Given the description of an element on the screen output the (x, y) to click on. 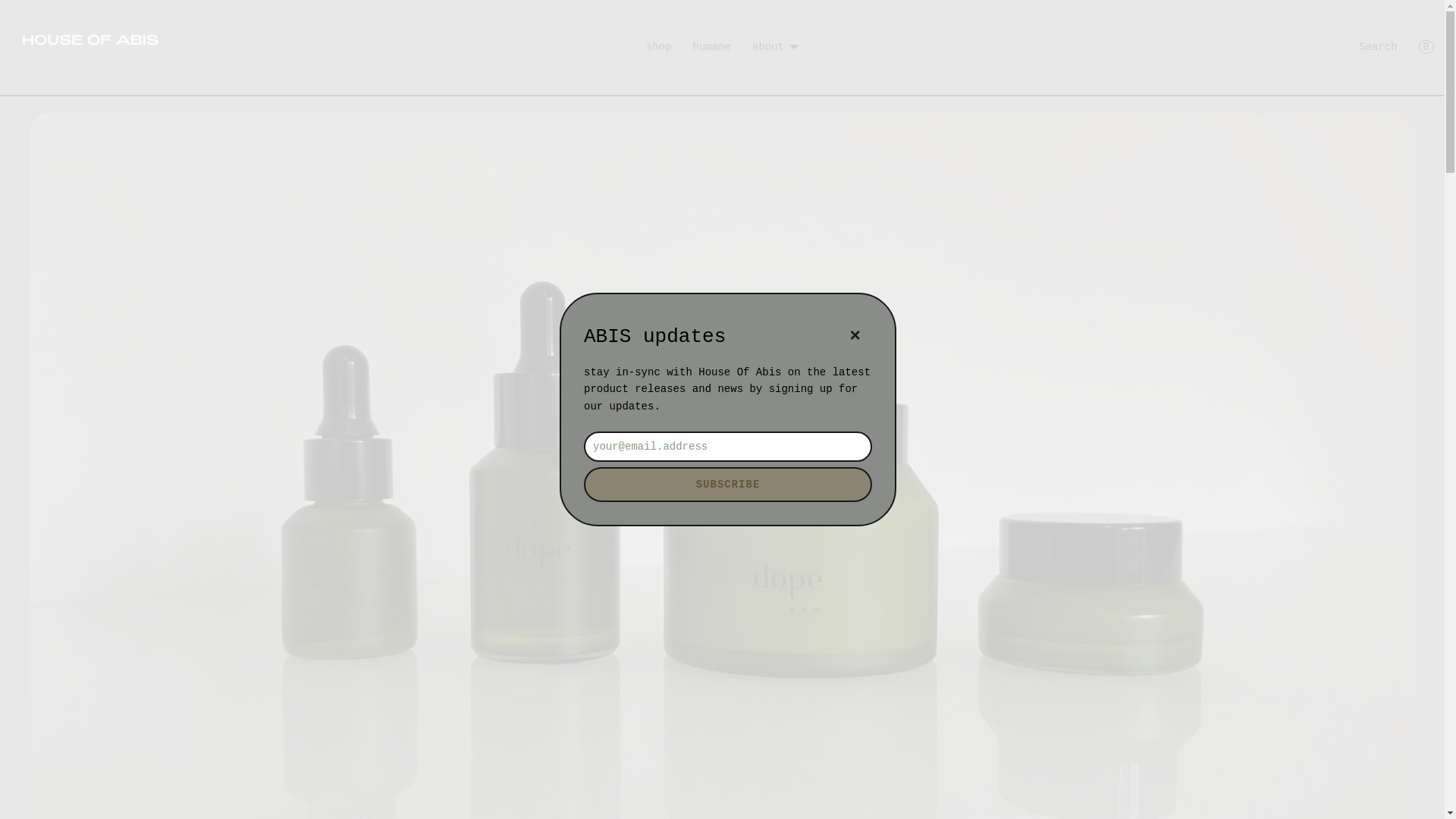
0 Element type: text (1426, 46)
shop Element type: text (658, 46)
humane Element type: text (711, 46)
Search Element type: text (1377, 46)
